Given the description of an element on the screen output the (x, y) to click on. 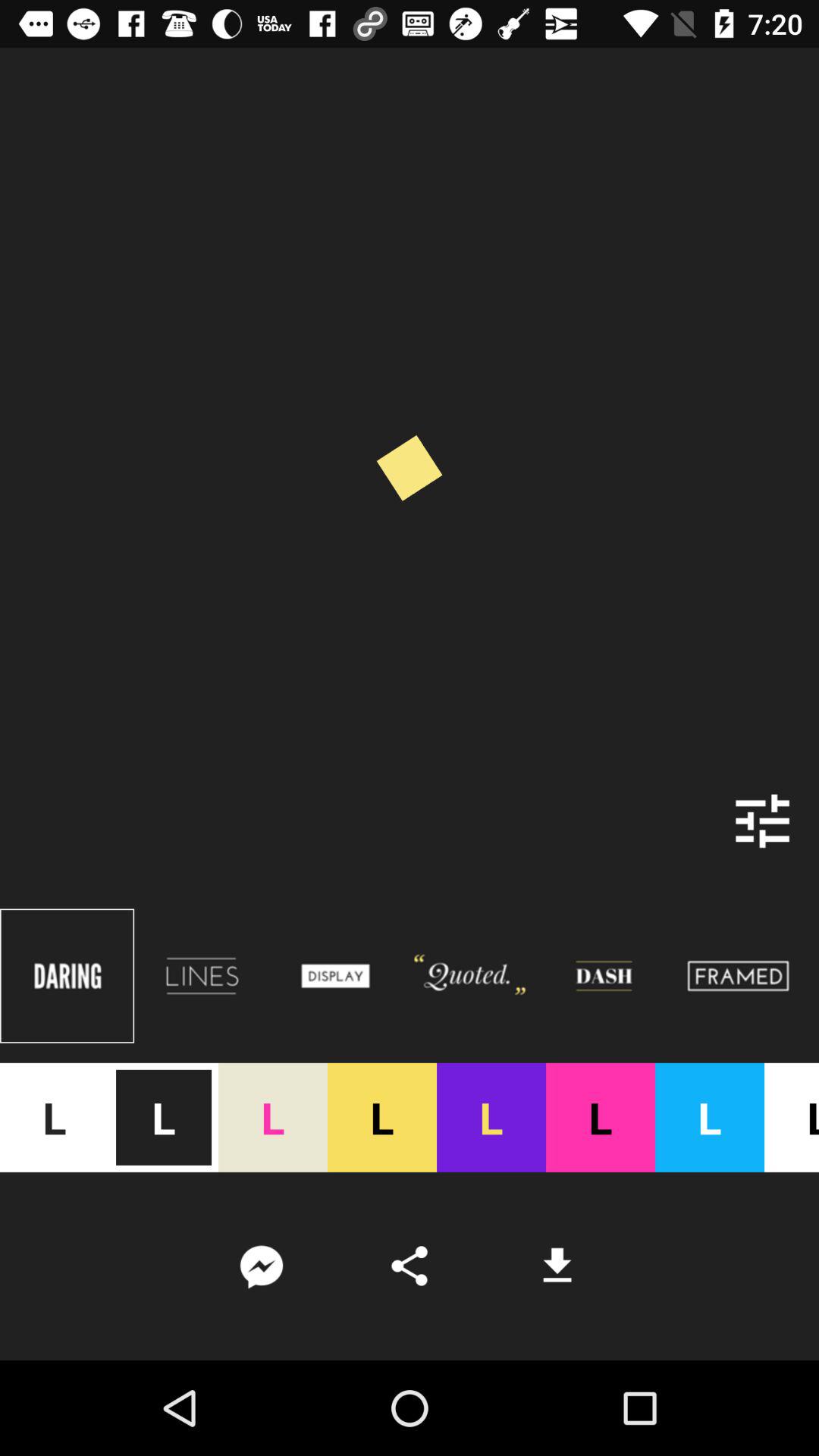
select quoted on the page (469, 975)
